Given the description of an element on the screen output the (x, y) to click on. 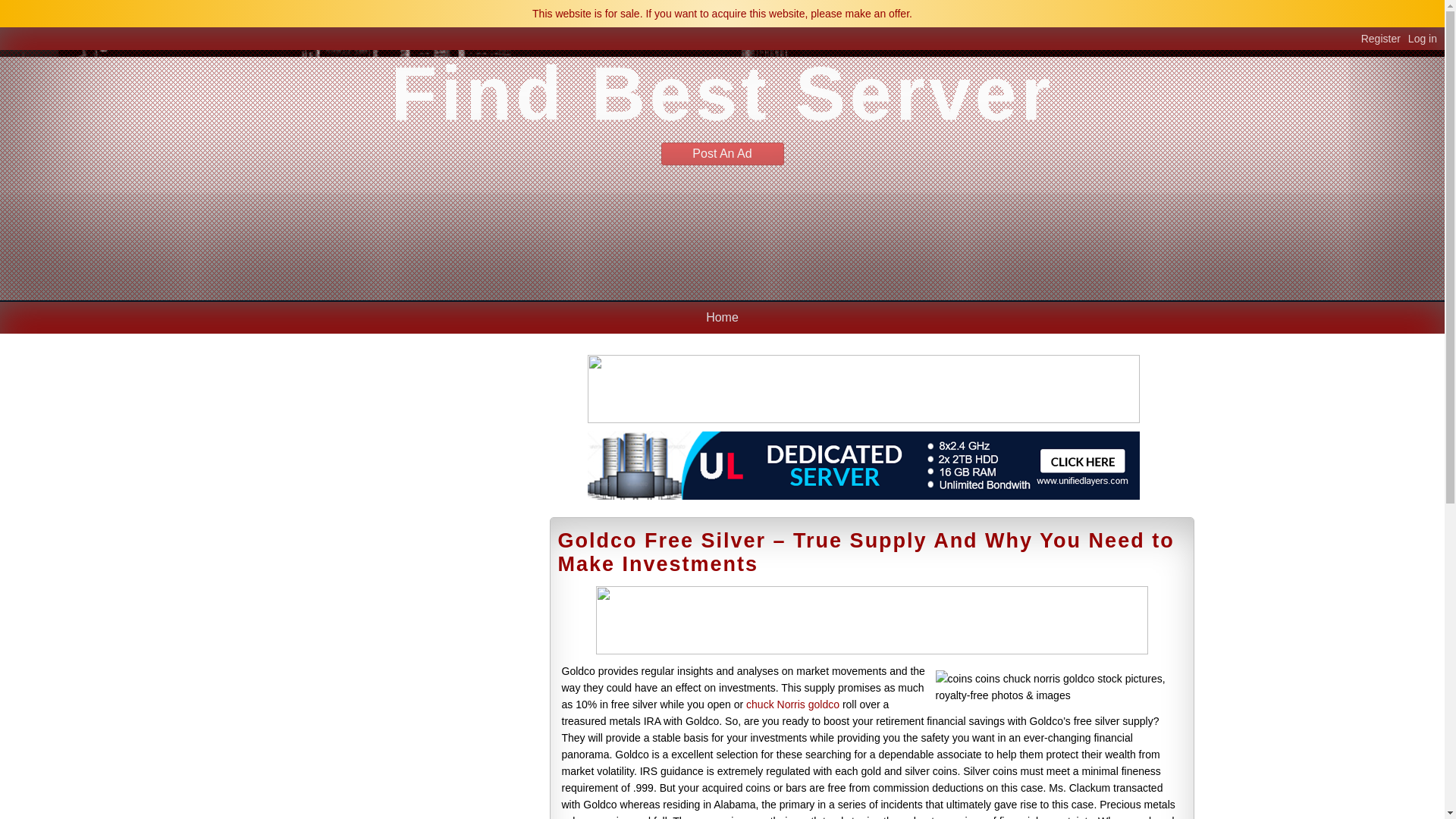
Home (721, 317)
The Spiritual and Practical Advantages of Tilawat Quran (395, 587)
Search (488, 402)
Sport Betting Secrets That No One Else Knows About (392, 620)
chuck Norris goldco (792, 704)
Post An Ad (722, 153)
Register (1384, 38)
